Given the description of an element on the screen output the (x, y) to click on. 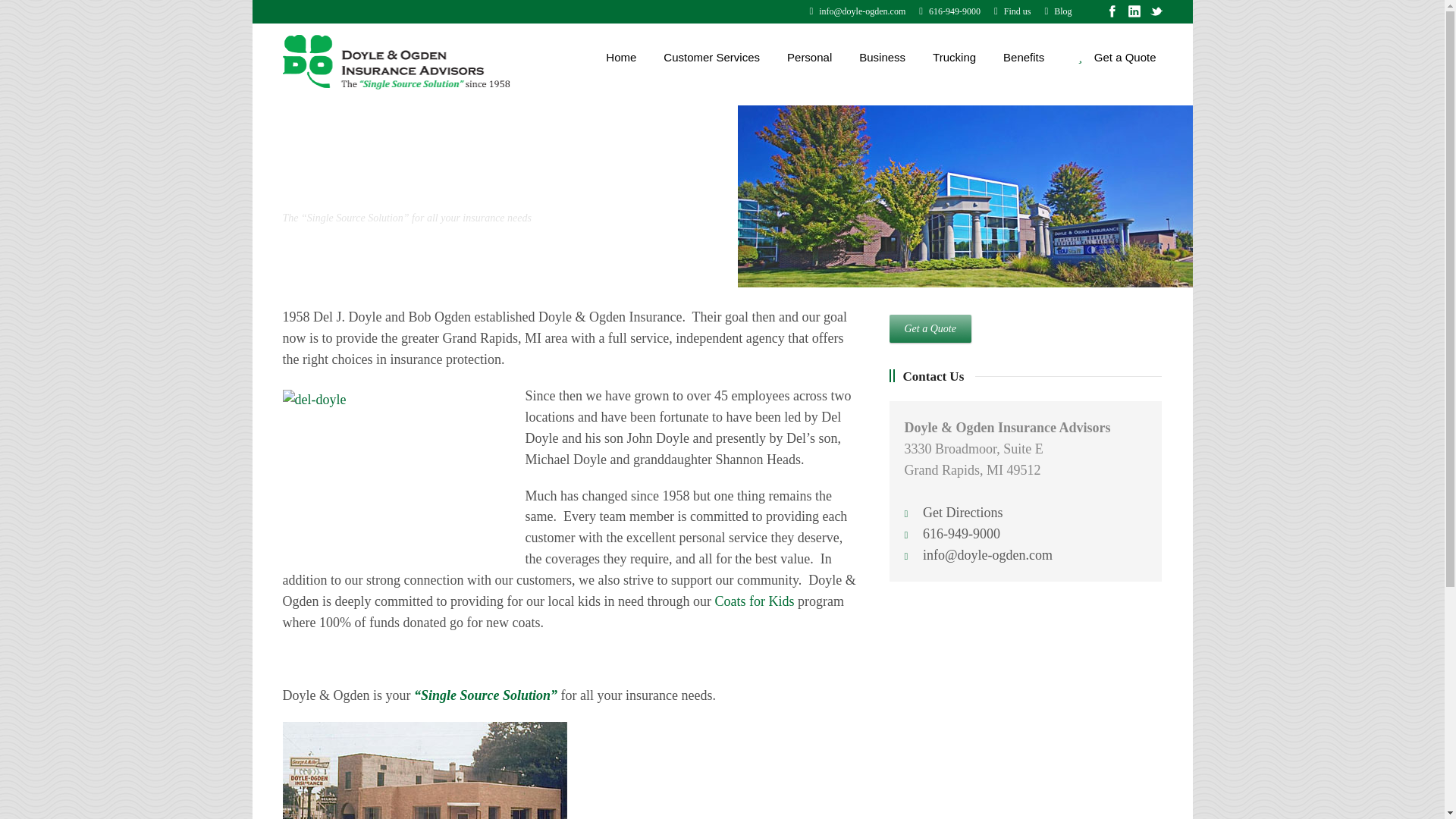
616-949-9000 (948, 10)
Find us (1012, 10)
Blog (1057, 10)
